Given the description of an element on the screen output the (x, y) to click on. 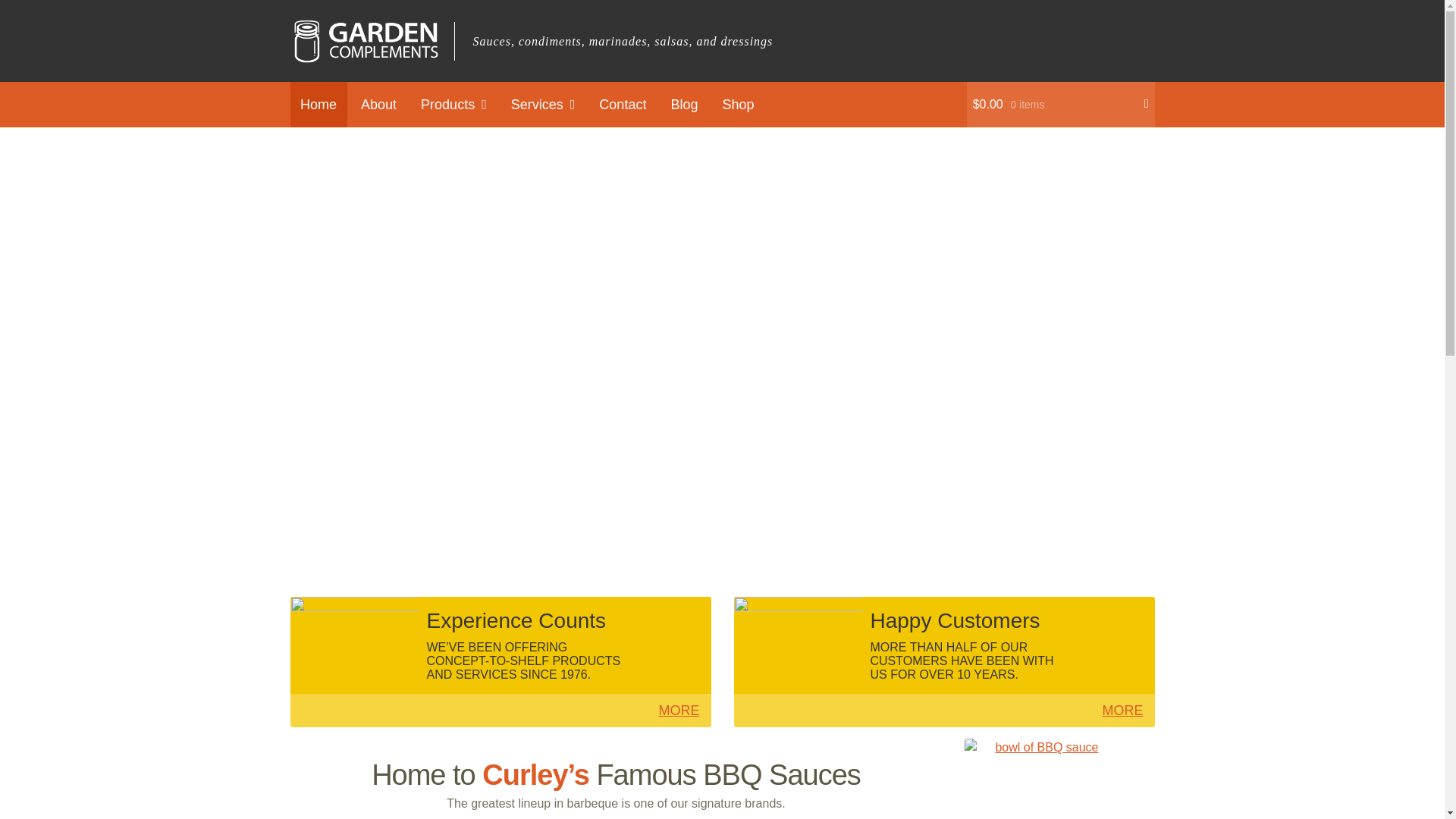
View your shopping cart (1060, 104)
Home (317, 104)
Products (453, 104)
MORE (679, 710)
Services (542, 104)
Blog (684, 104)
MORE (1122, 710)
About (378, 104)
Contact (622, 104)
Shop (737, 104)
